Given the description of an element on the screen output the (x, y) to click on. 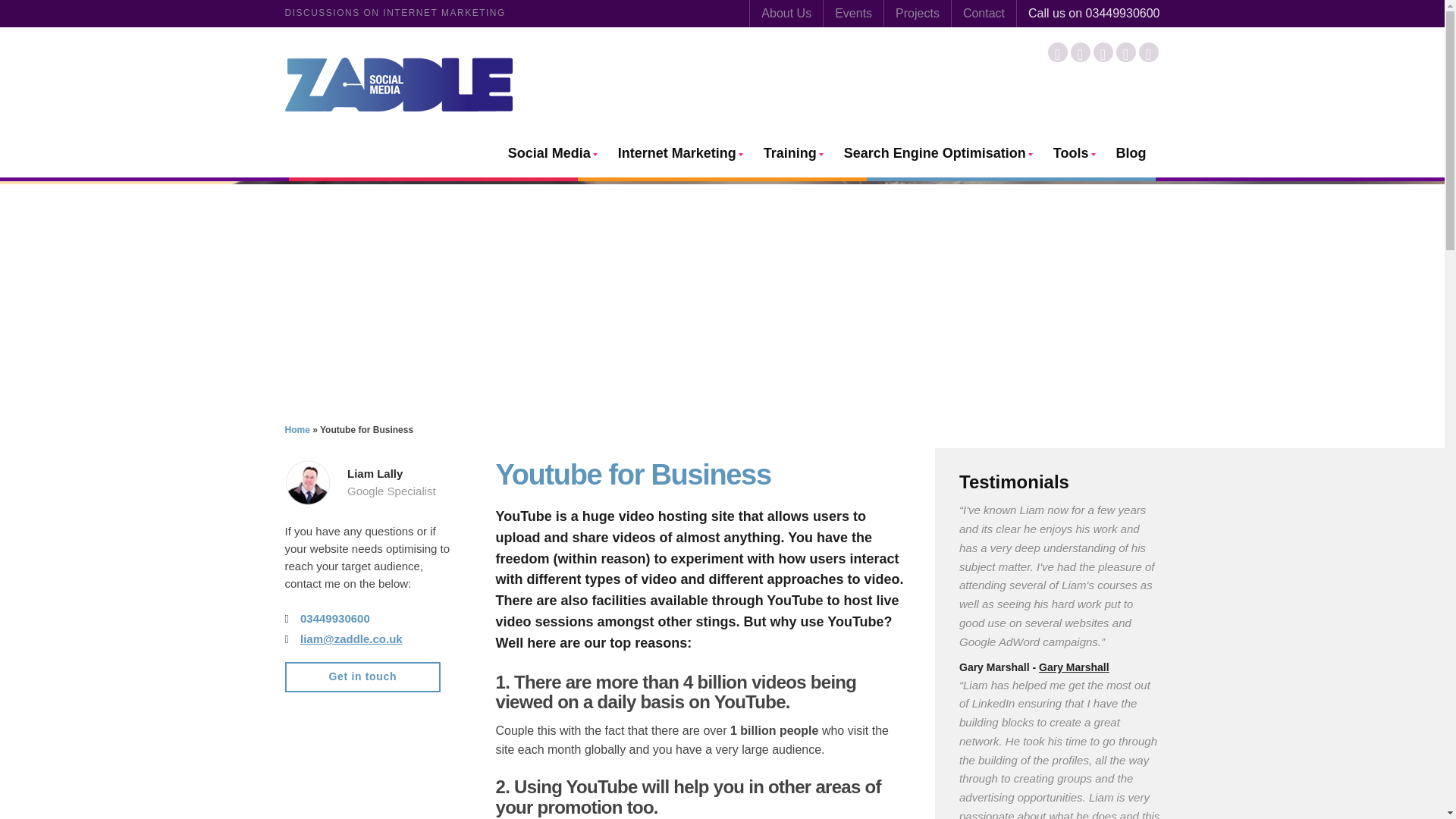
Contact (984, 13)
About Us (785, 13)
Projects (916, 13)
Events (853, 13)
